Given the description of an element on the screen output the (x, y) to click on. 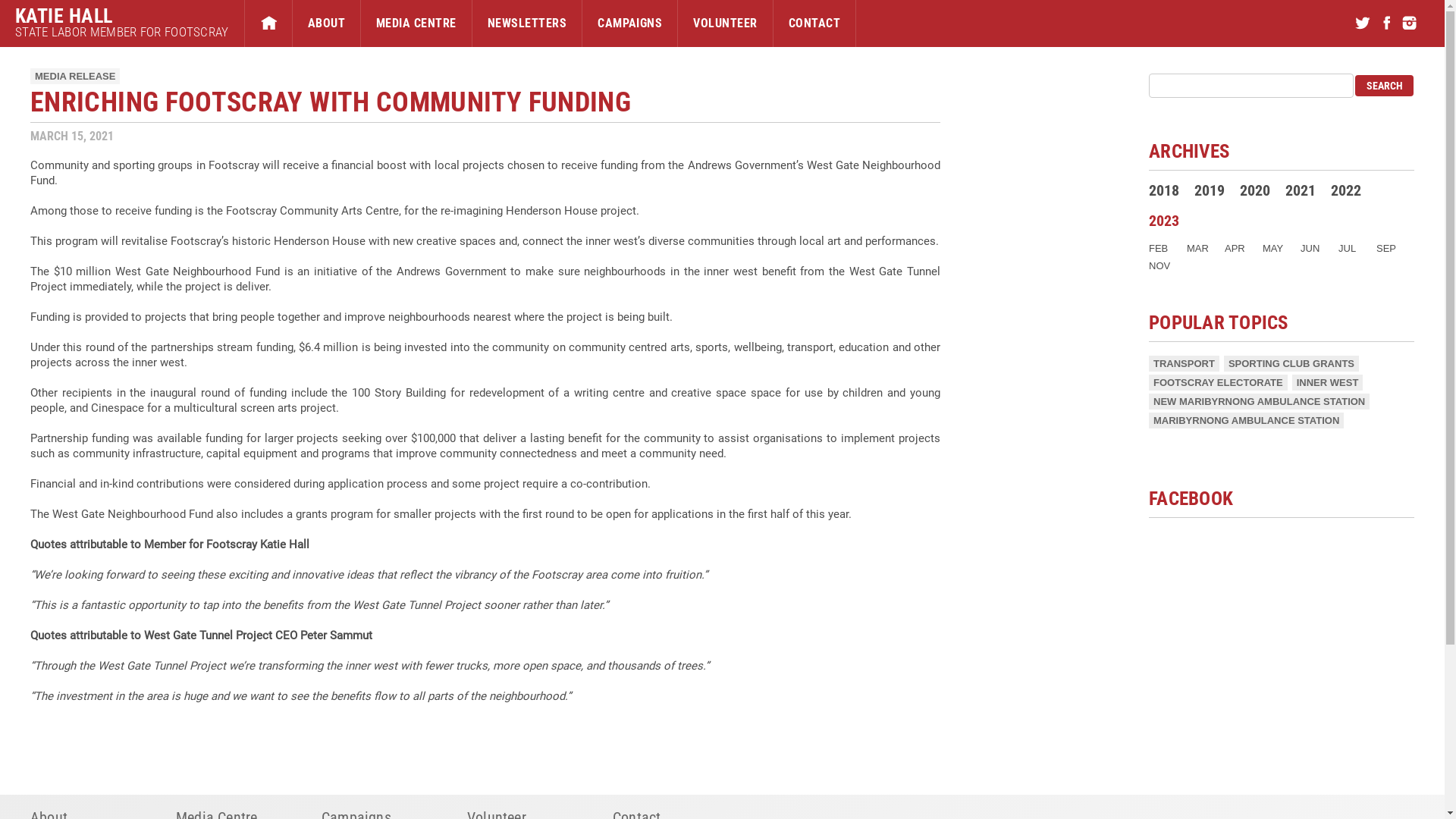
VOLUNTEER Element type: text (724, 23)
2022 Element type: text (1345, 190)
MEDIA CENTRE Element type: text (415, 23)
NOV Element type: text (1159, 265)
2018 Element type: text (1163, 190)
MARIBYRNONG AMBULANCE STATION Element type: text (1245, 420)
FOOTSCRAY ELECTORATE Element type: text (1217, 382)
SEP Element type: text (1386, 248)
2020 Element type: text (1254, 190)
ABOUT Element type: text (326, 23)
TRANSPORT Element type: text (1183, 363)
search Element type: text (1384, 85)
JUL Element type: text (1346, 248)
CAMPAIGNS Element type: text (629, 23)
MAY Element type: text (1272, 248)
APR Element type: text (1234, 248)
MEDIA RELEASE Element type: text (74, 76)
INNER WEST Element type: text (1327, 382)
NEWSLETTERS Element type: text (526, 23)
MAR Element type: text (1197, 248)
FEB Element type: text (1157, 248)
2019 Element type: text (1209, 190)
JUN Element type: text (1309, 248)
2023 Element type: text (1163, 220)
STATE LABOR MEMBER FOR FOOTSCRAY Element type: text (122, 31)
2021 Element type: text (1300, 190)
KATIE HALL Element type: text (122, 15)
CONTACT Element type: text (814, 23)
HOME Element type: text (267, 23)
SPORTING CLUB GRANTS Element type: text (1290, 363)
NEW MARIBYRNONG AMBULANCE STATION Element type: text (1258, 401)
